Given the description of an element on the screen output the (x, y) to click on. 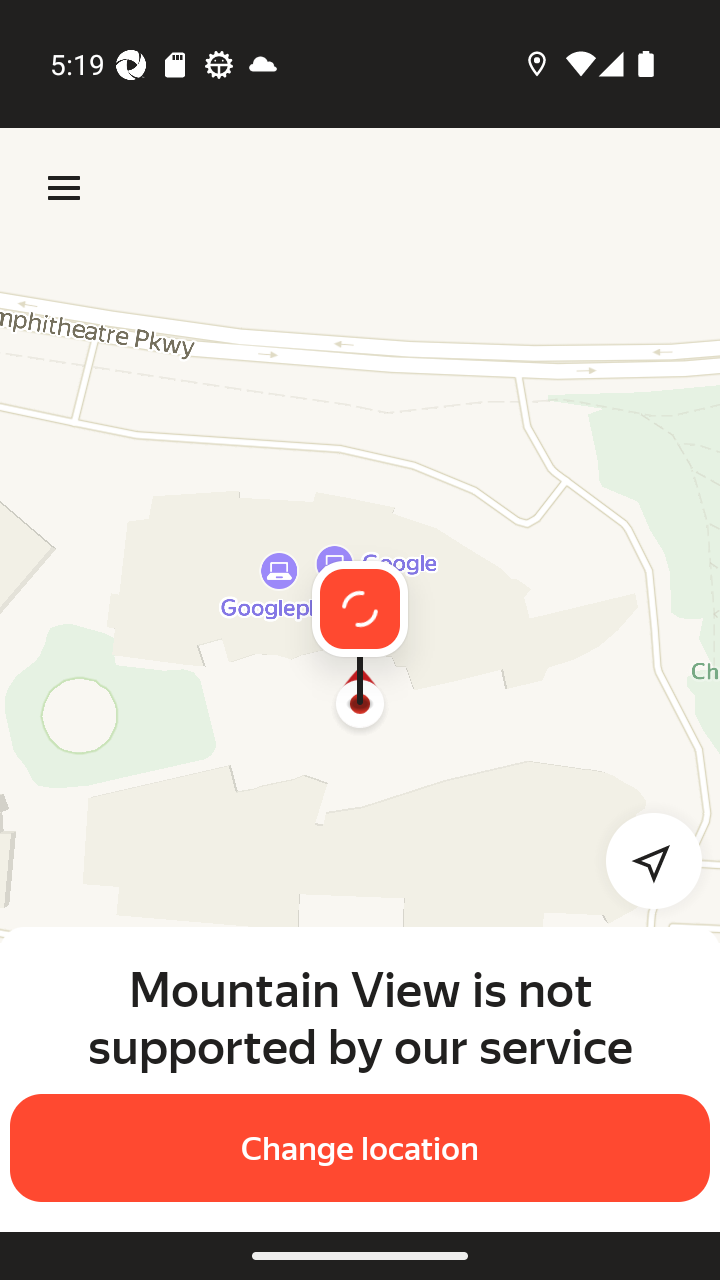
Menu Menu Menu (64, 188)
Detect my location (641, 860)
Mountain View is not supported by our service (360, 1017)
Change location (359, 1147)
